Given the description of an element on the screen output the (x, y) to click on. 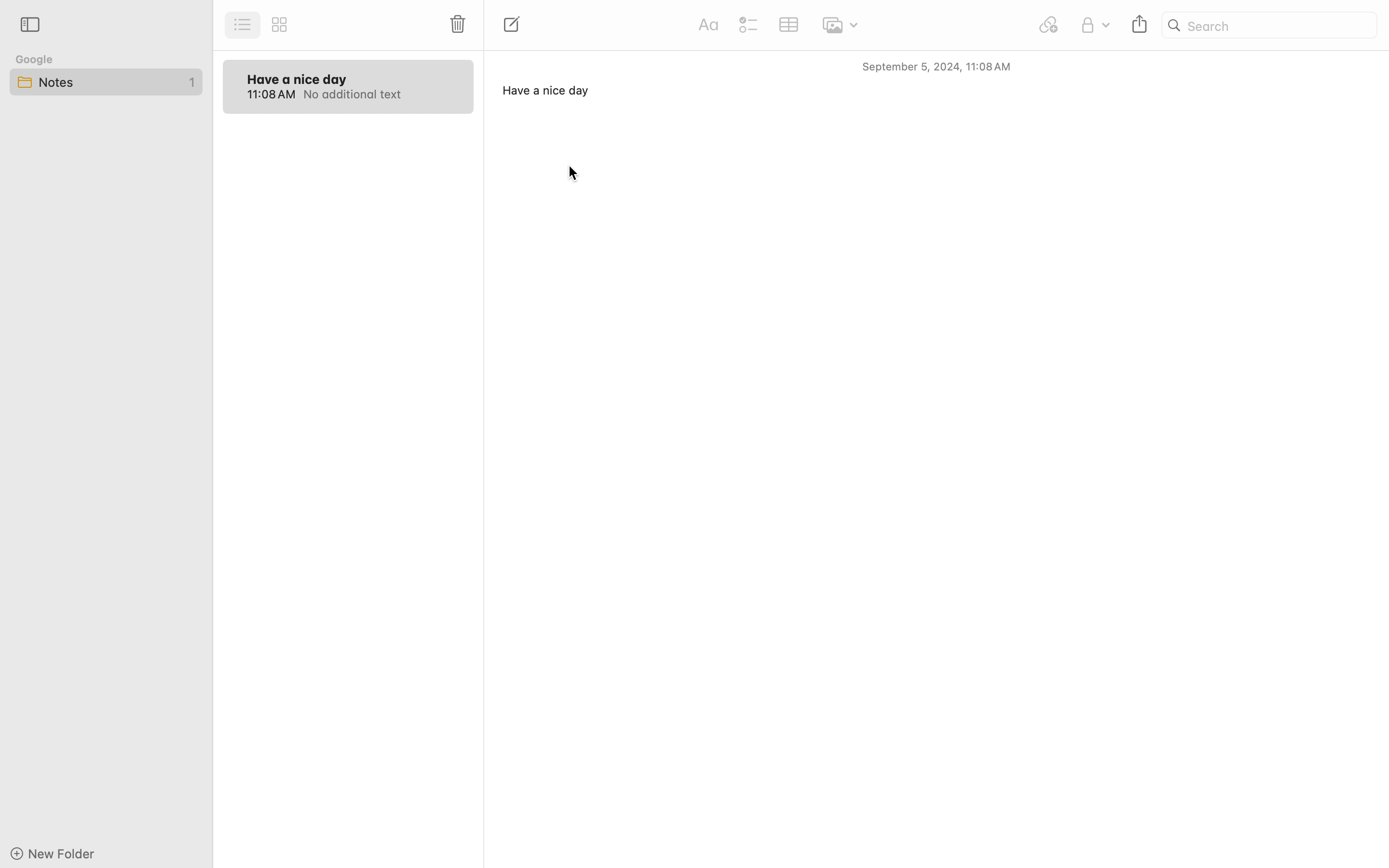
Notes Element type: AXStaticText (105, 81)
Google Element type: AXStaticText (33, 58)
